Given the description of an element on the screen output the (x, y) to click on. 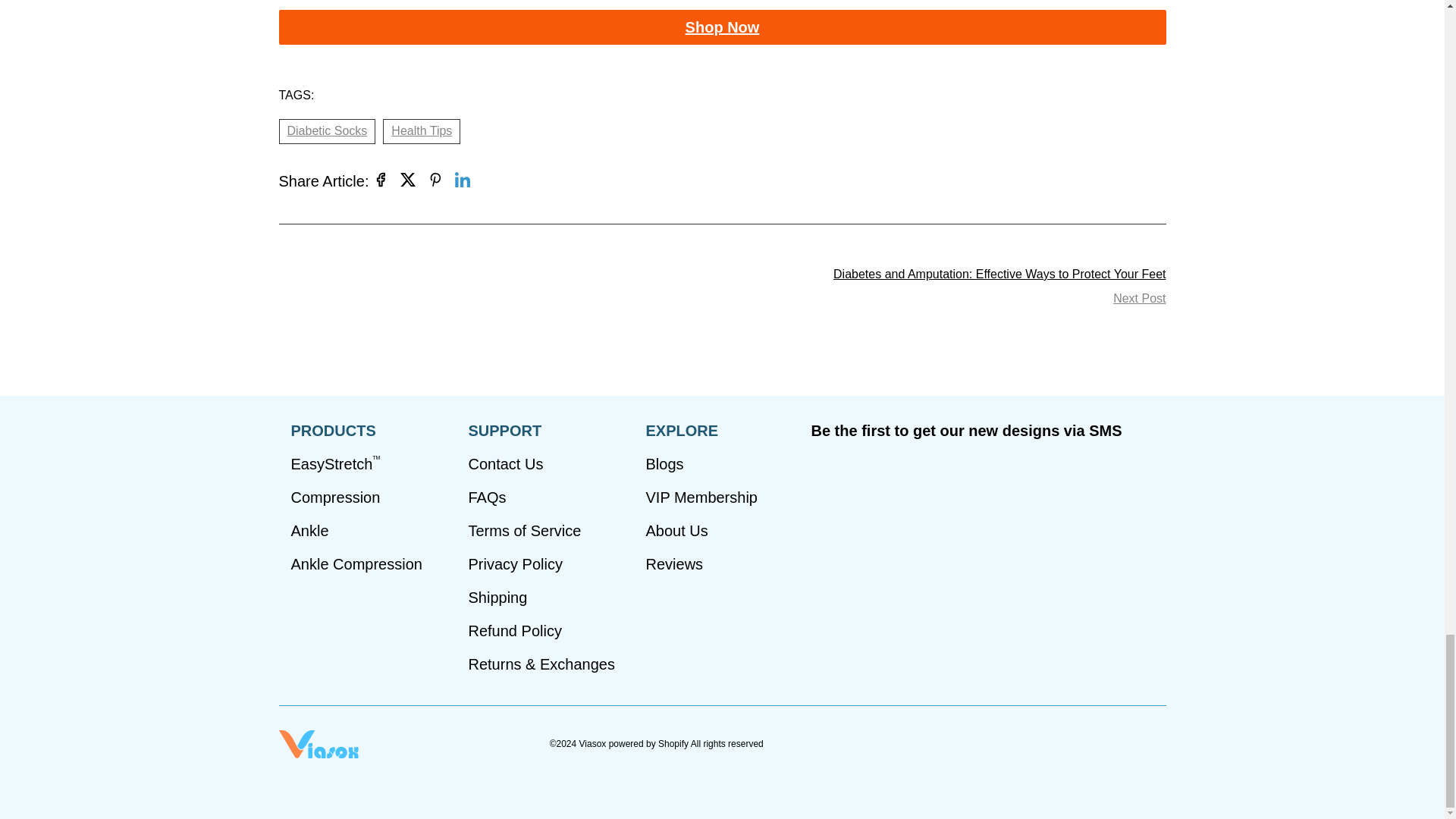
Diabetes and Amputation: Effective Ways to Protect Your Feet (999, 274)
FAQs (487, 496)
EasyStretchTM (335, 464)
Diabetic Socks (327, 130)
Our diabetic socks collections (722, 27)
Terms of Service (524, 530)
Ankle (310, 530)
Shop Now (722, 27)
Next Post (1139, 298)
Compression (335, 496)
Contact Us (505, 464)
Health Tips (421, 130)
Ankle Compression (356, 563)
